Given the description of an element on the screen output the (x, y) to click on. 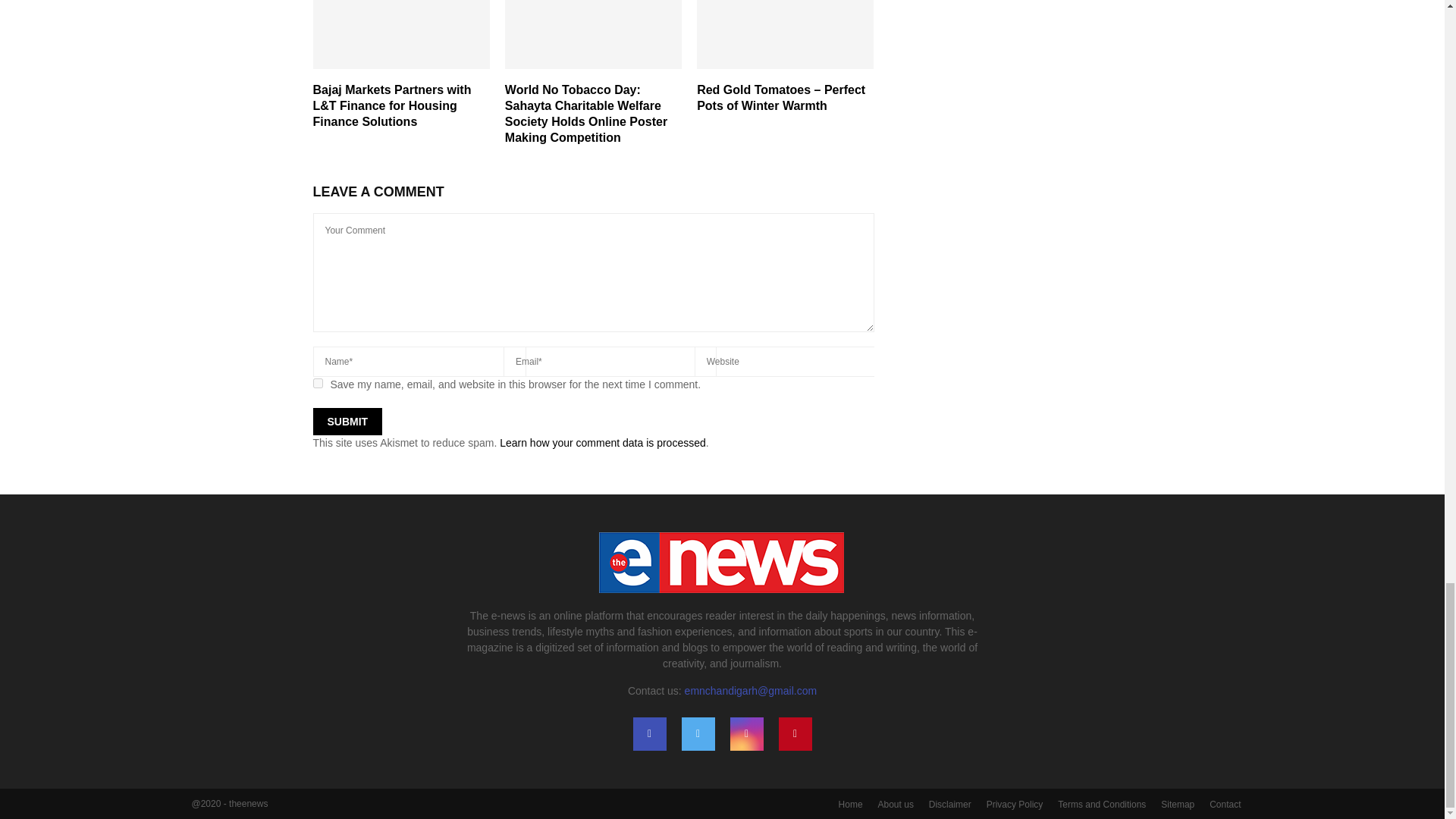
Submit (347, 420)
yes (317, 383)
